Given the description of an element on the screen output the (x, y) to click on. 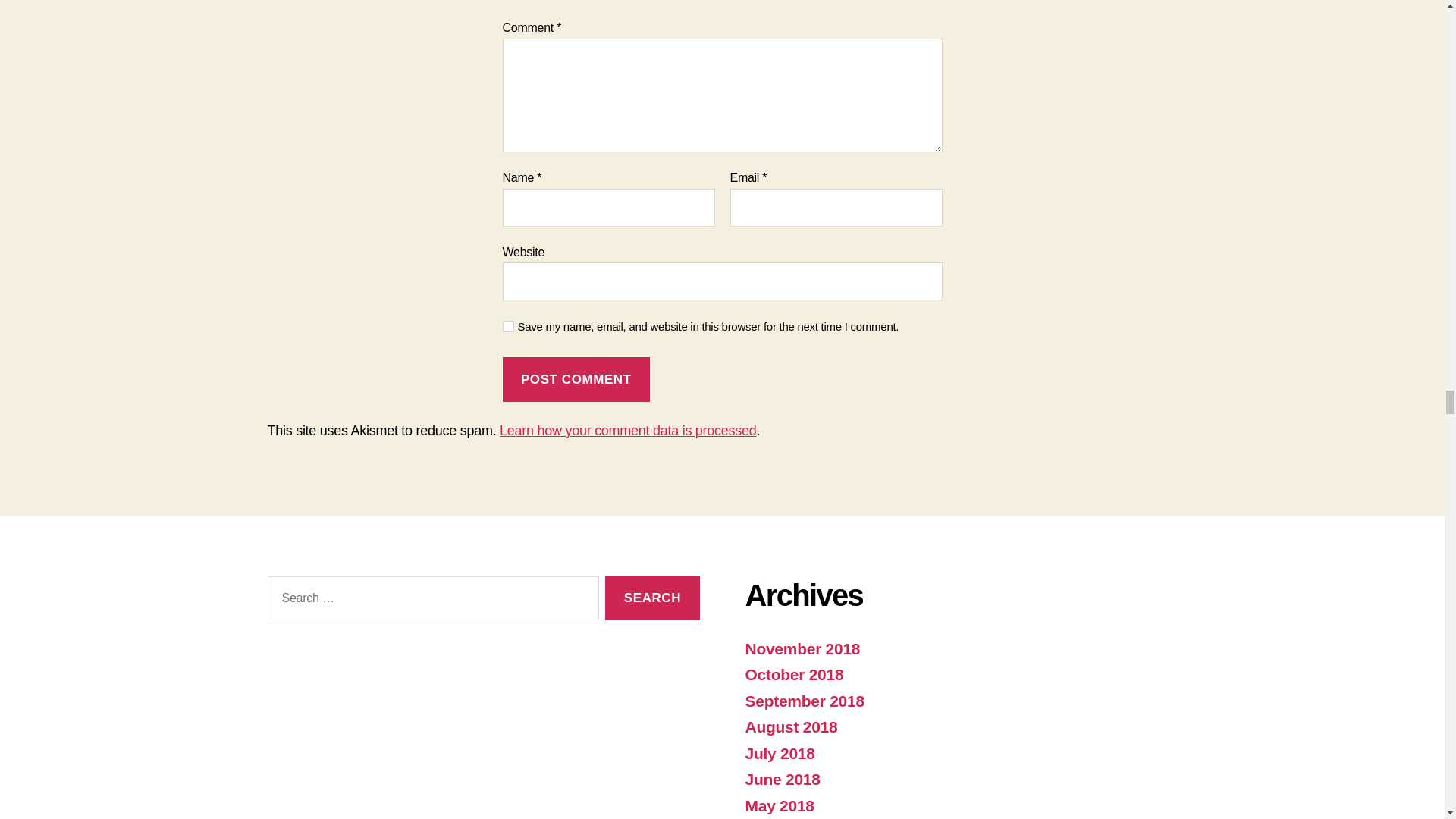
Search (651, 598)
yes (507, 326)
Post Comment (575, 379)
Search (651, 598)
